Given the description of an element on the screen output the (x, y) to click on. 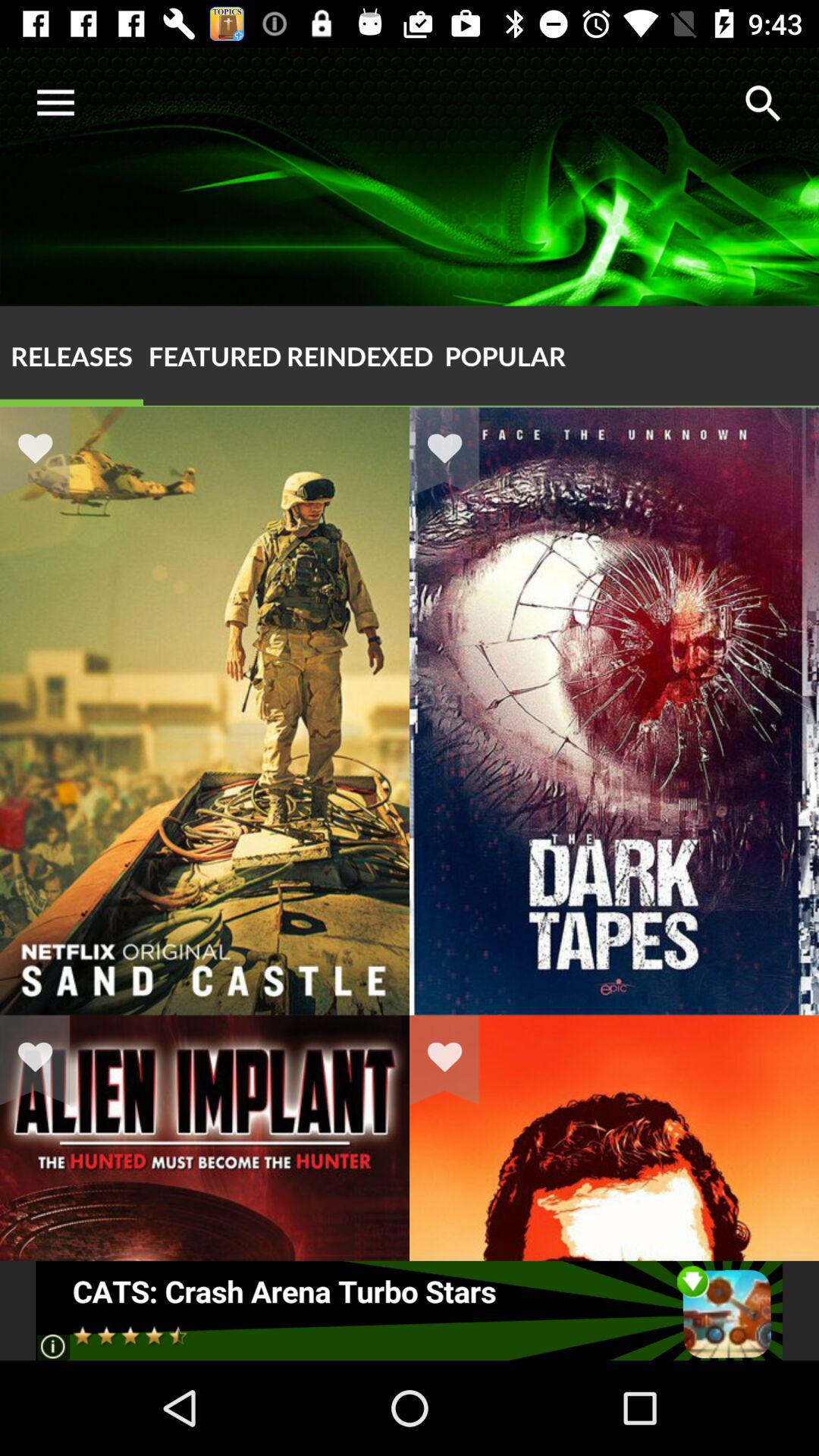
click on the information icon which is on bottom of the page (52, 1345)
select the image which says  the dark tapes (614, 1014)
